Given the description of an element on the screen output the (x, y) to click on. 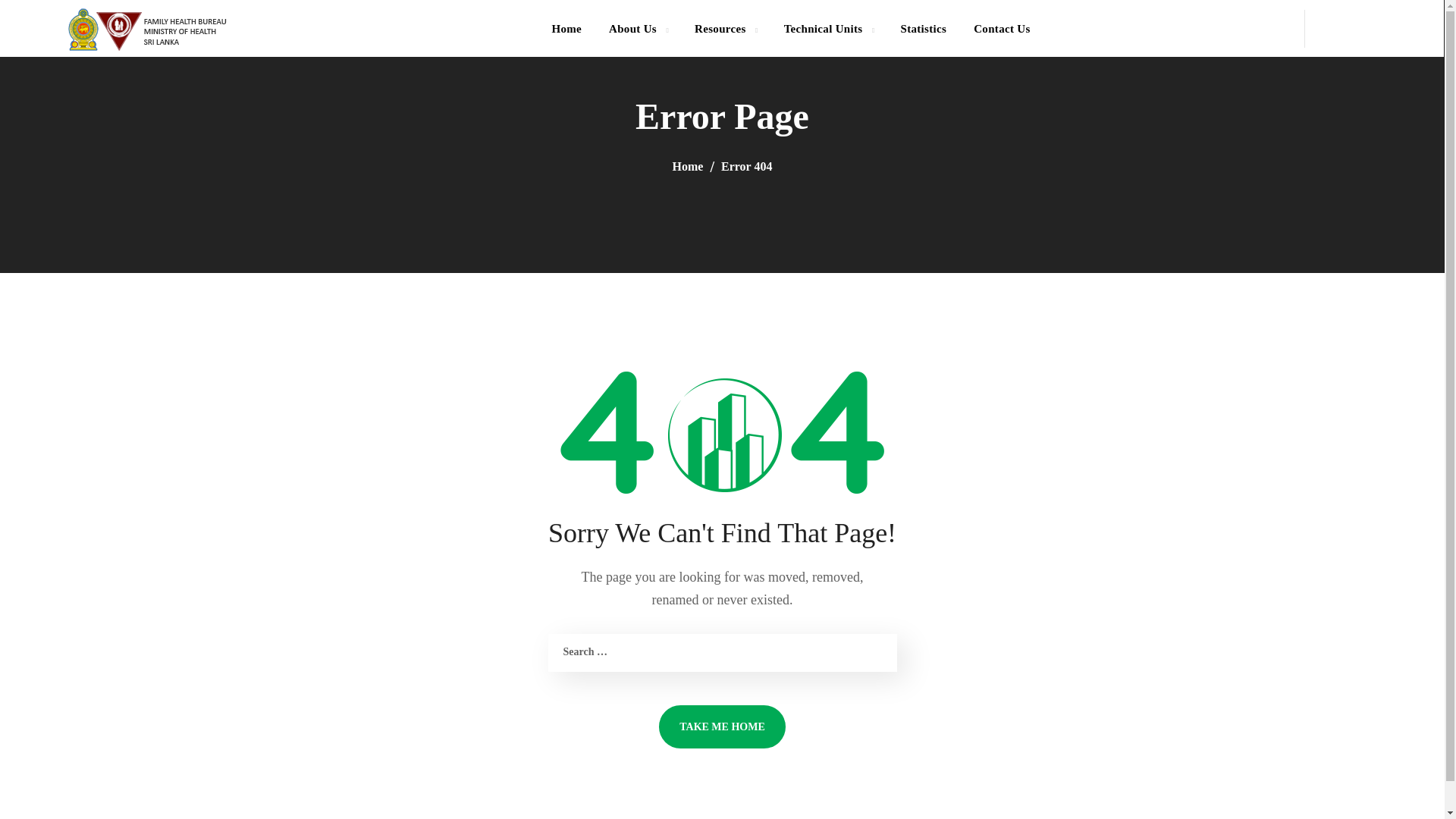
Search (1381, 94)
FHBlogo11 (146, 28)
About Us (638, 28)
Statistics (922, 28)
Contact Us (1001, 28)
Resources (725, 28)
Technical Units (828, 28)
Home (566, 28)
